Given the description of an element on the screen output the (x, y) to click on. 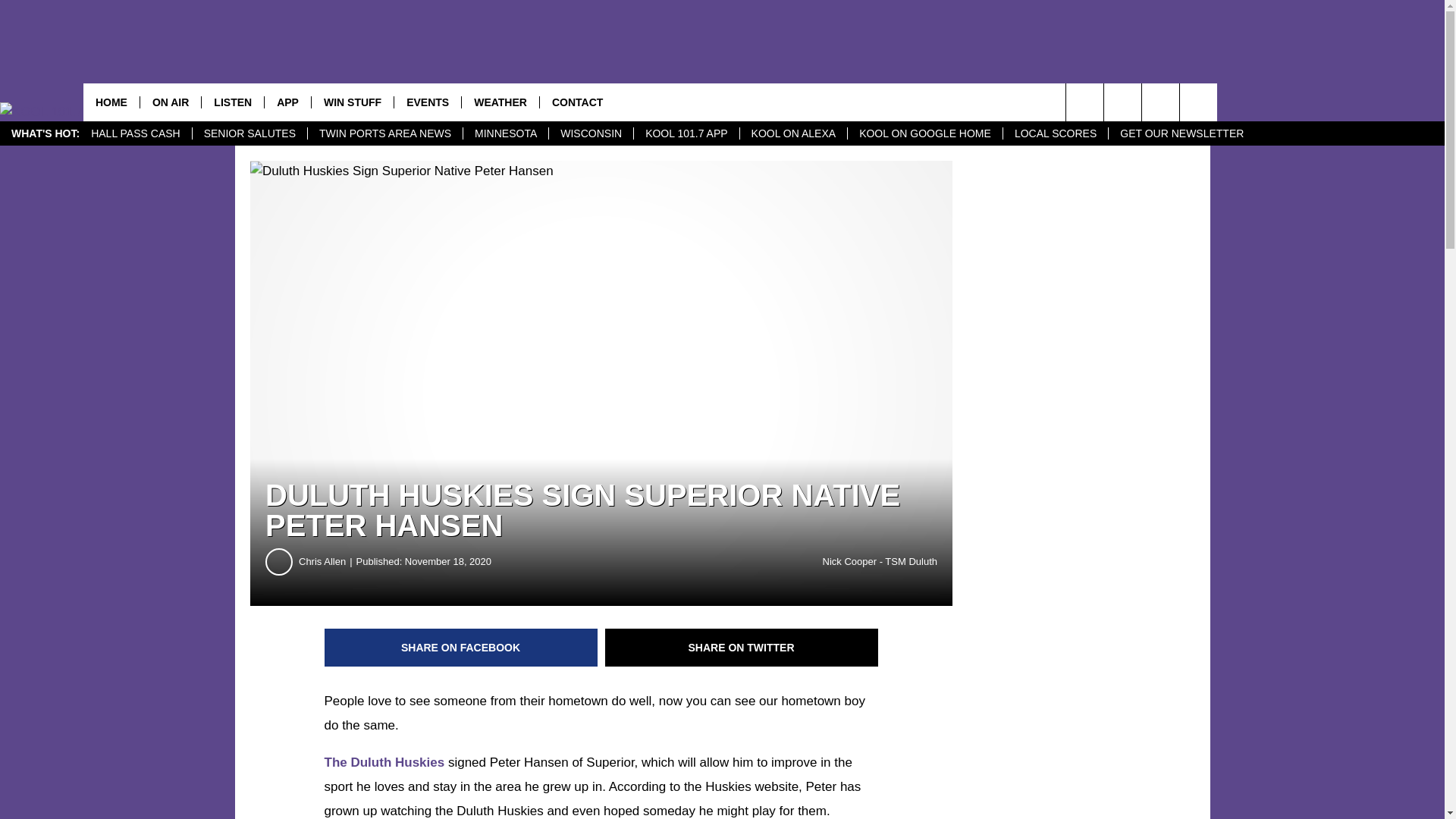
KOOL 101.7 APP (685, 133)
HOME (110, 102)
KOOL ON GOOGLE HOME (925, 133)
HALL PASS CASH (136, 133)
LOCAL SCORES (1055, 133)
LISTEN (231, 102)
KOOL ON ALEXA (793, 133)
WISCONSIN (590, 133)
Share on Twitter (741, 647)
ON AIR (169, 102)
